Given the description of an element on the screen output the (x, y) to click on. 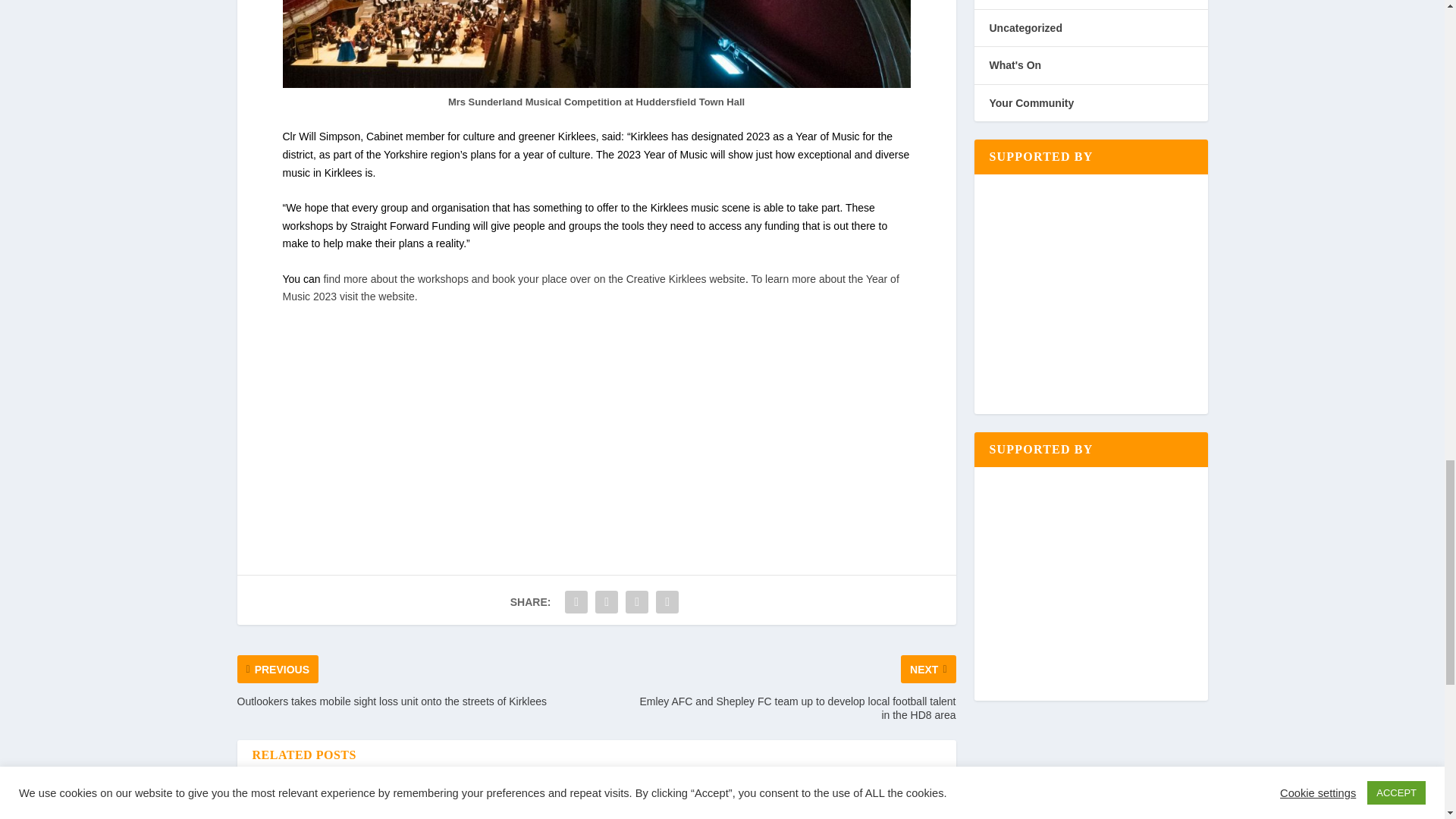
Care homes prepare to welcome visitors (859, 803)
